Given the description of an element on the screen output the (x, y) to click on. 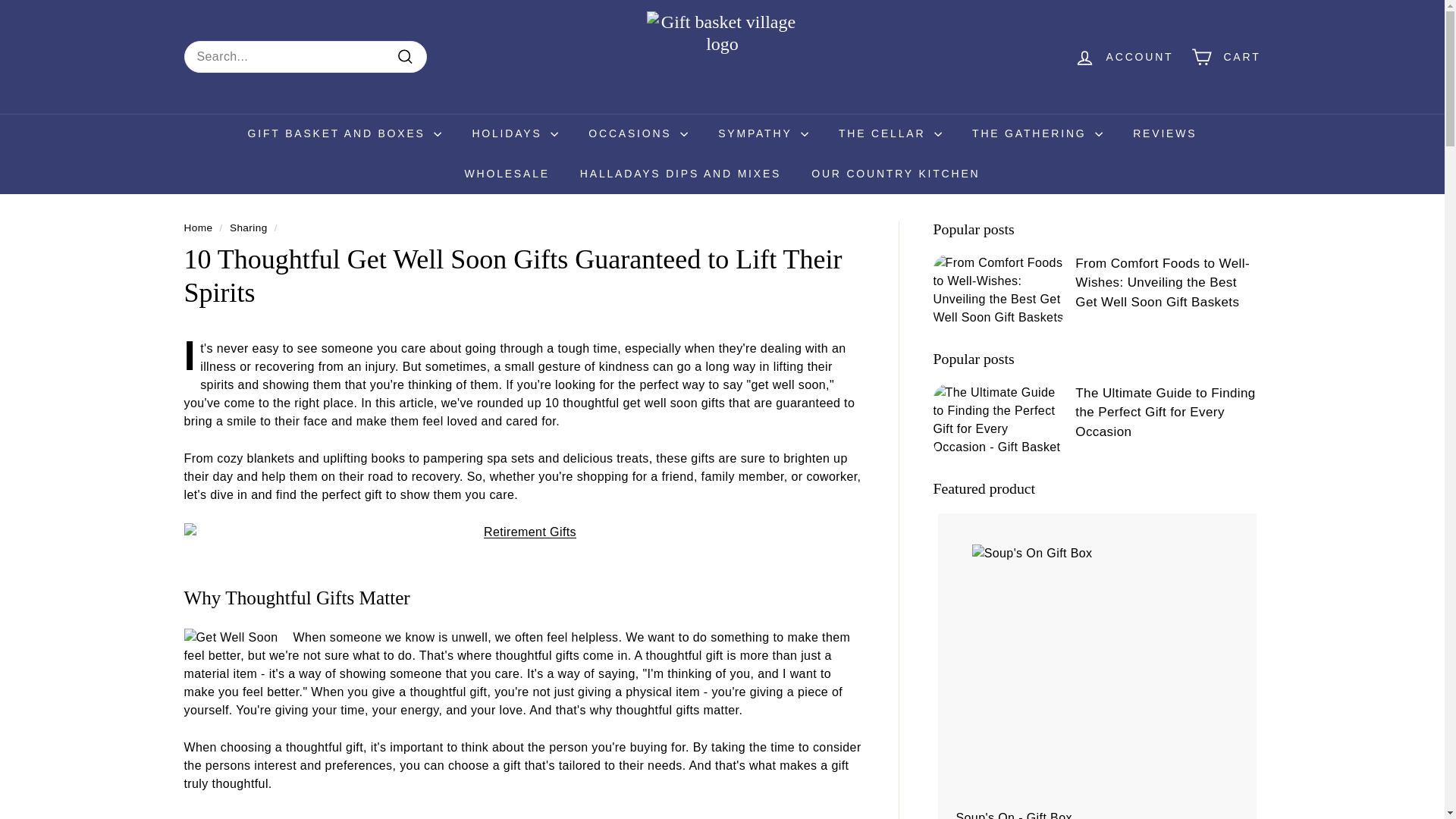
Retirement Gift Baskets (523, 532)
Back to the frontpage (197, 227)
CART (1225, 57)
ACCOUNT (1123, 57)
